Given the description of an element on the screen output the (x, y) to click on. 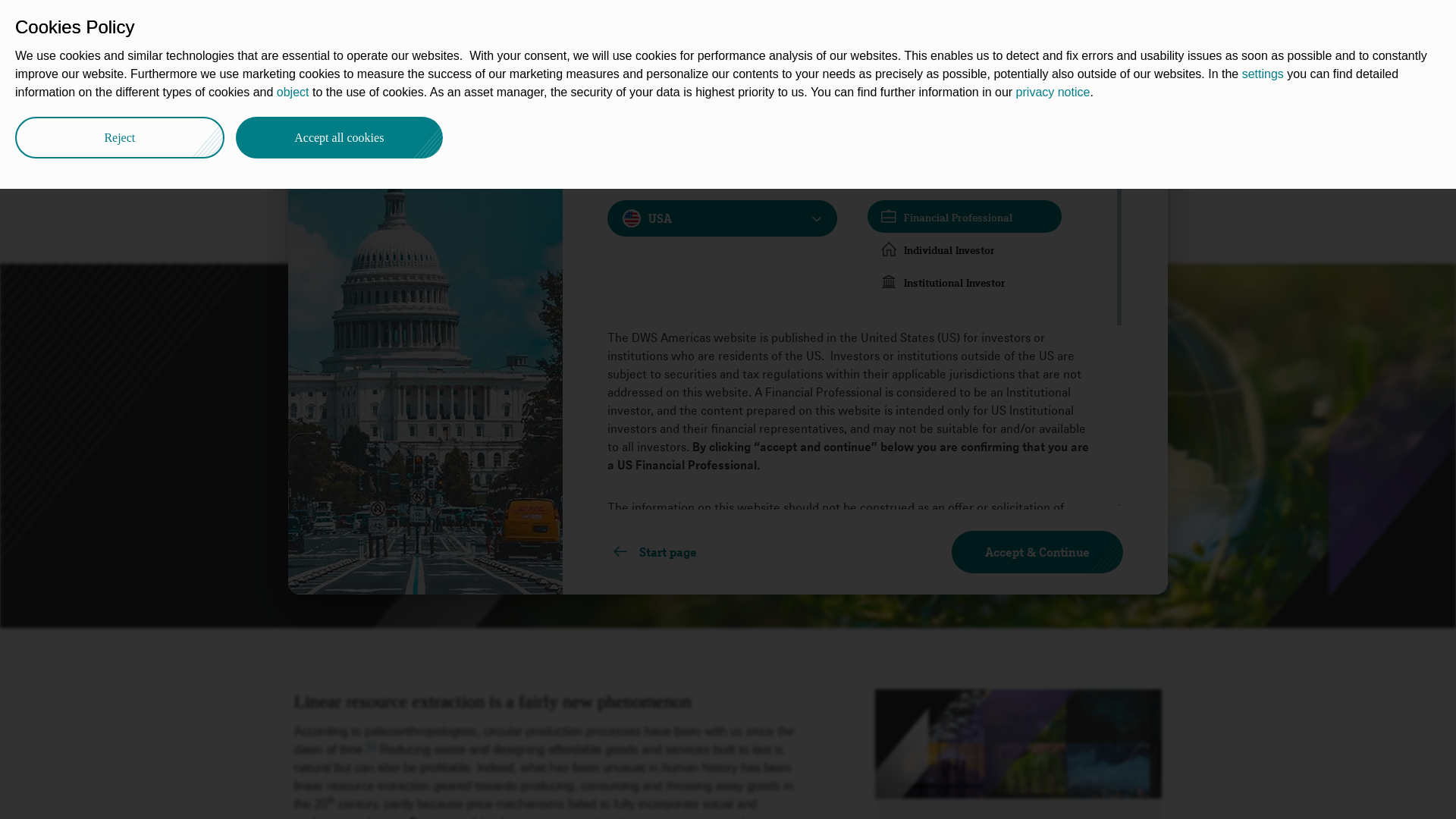
Home (322, 92)
Insights (420, 24)
Solutions (614, 24)
Print (1159, 91)
DWS - Investors for a new now (322, 92)
Macro (531, 92)
Strategies (551, 24)
Profile (792, 24)
Global CIO View (455, 92)
Insights (376, 92)
Macro (531, 92)
Resources (736, 24)
Products (673, 24)
Insights (376, 92)
Global CIO View (455, 92)
